Given the description of an element on the screen output the (x, y) to click on. 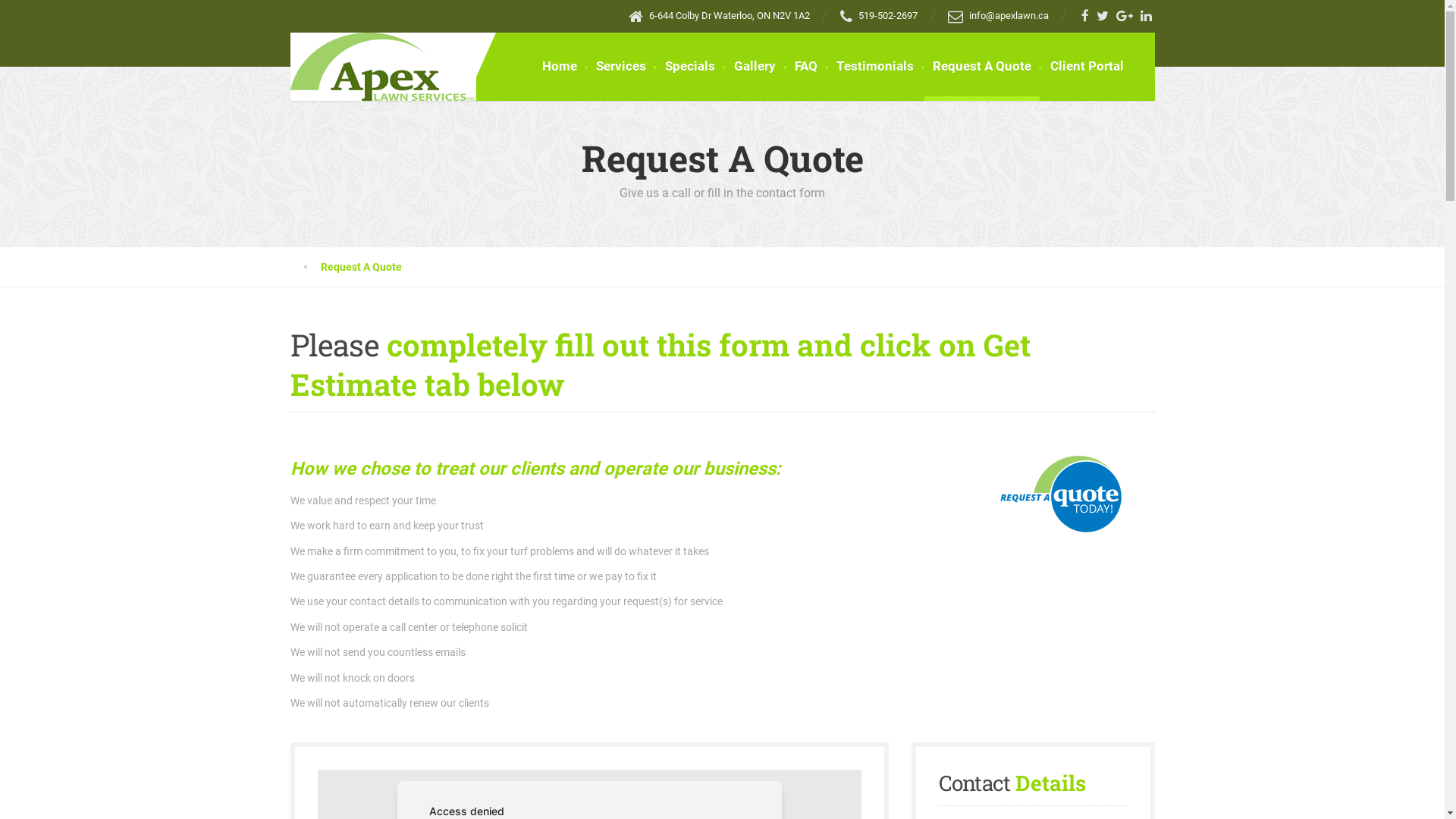
Gallery Element type: text (753, 66)
Request A Quote Element type: text (980, 66)
Client Portal Element type: text (1086, 66)
Specials Element type: text (689, 66)
Home Element type: text (559, 66)
Go to . Element type: hover (304, 266)
519-502-2697 Element type: text (878, 15)
Services Element type: text (619, 66)
FAQ Element type: text (805, 66)
Testimonials Element type: text (875, 66)
